Given the description of an element on the screen output the (x, y) to click on. 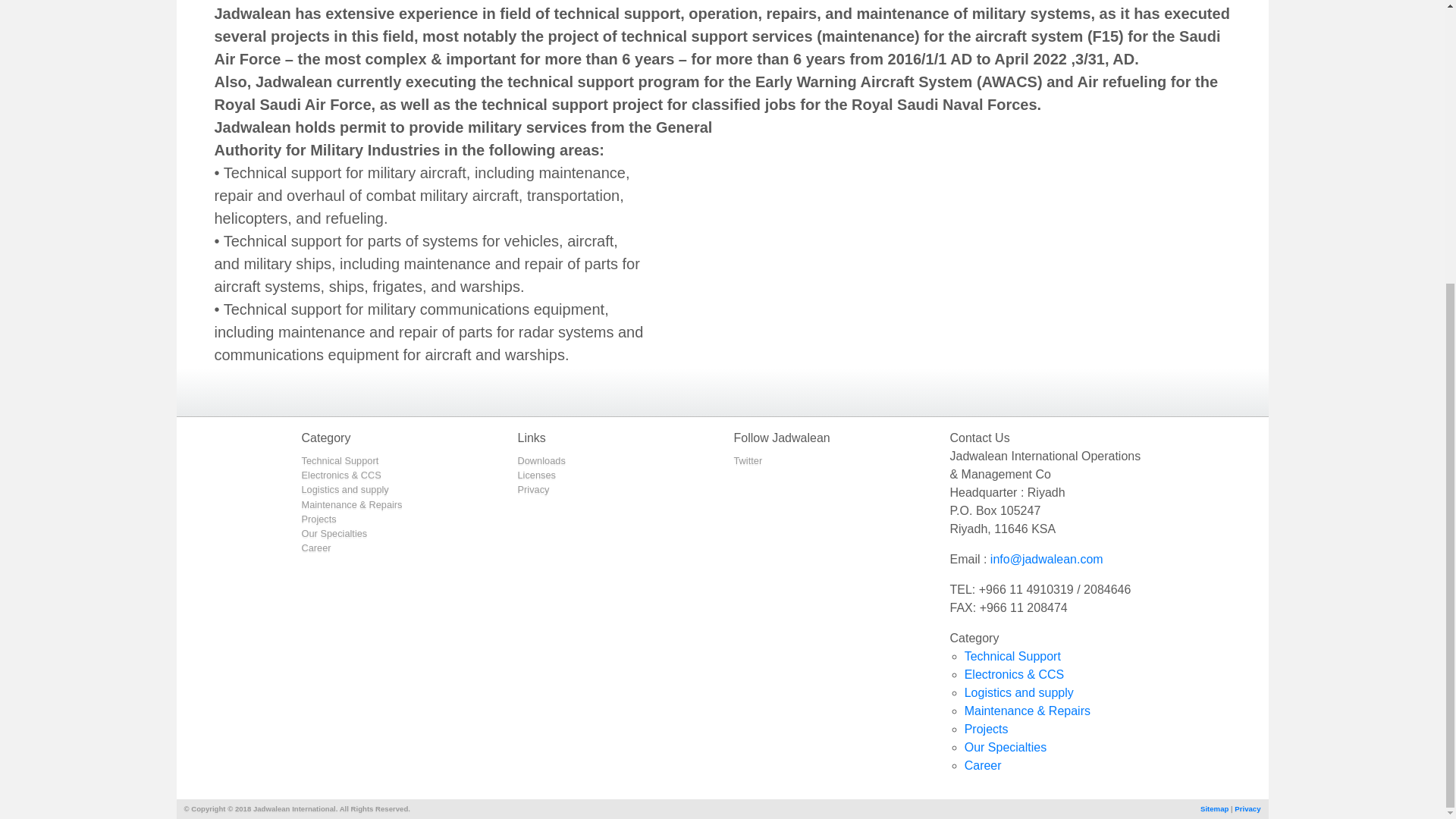
Career (982, 765)
Logistics and supply (344, 489)
Projects (986, 728)
Logistics and supply (1018, 692)
Privacy (1246, 808)
Sitemap (1214, 808)
Our Specialties (1004, 747)
Licenses (536, 474)
Technical Support (1012, 656)
Projects (318, 518)
